Given the description of an element on the screen output the (x, y) to click on. 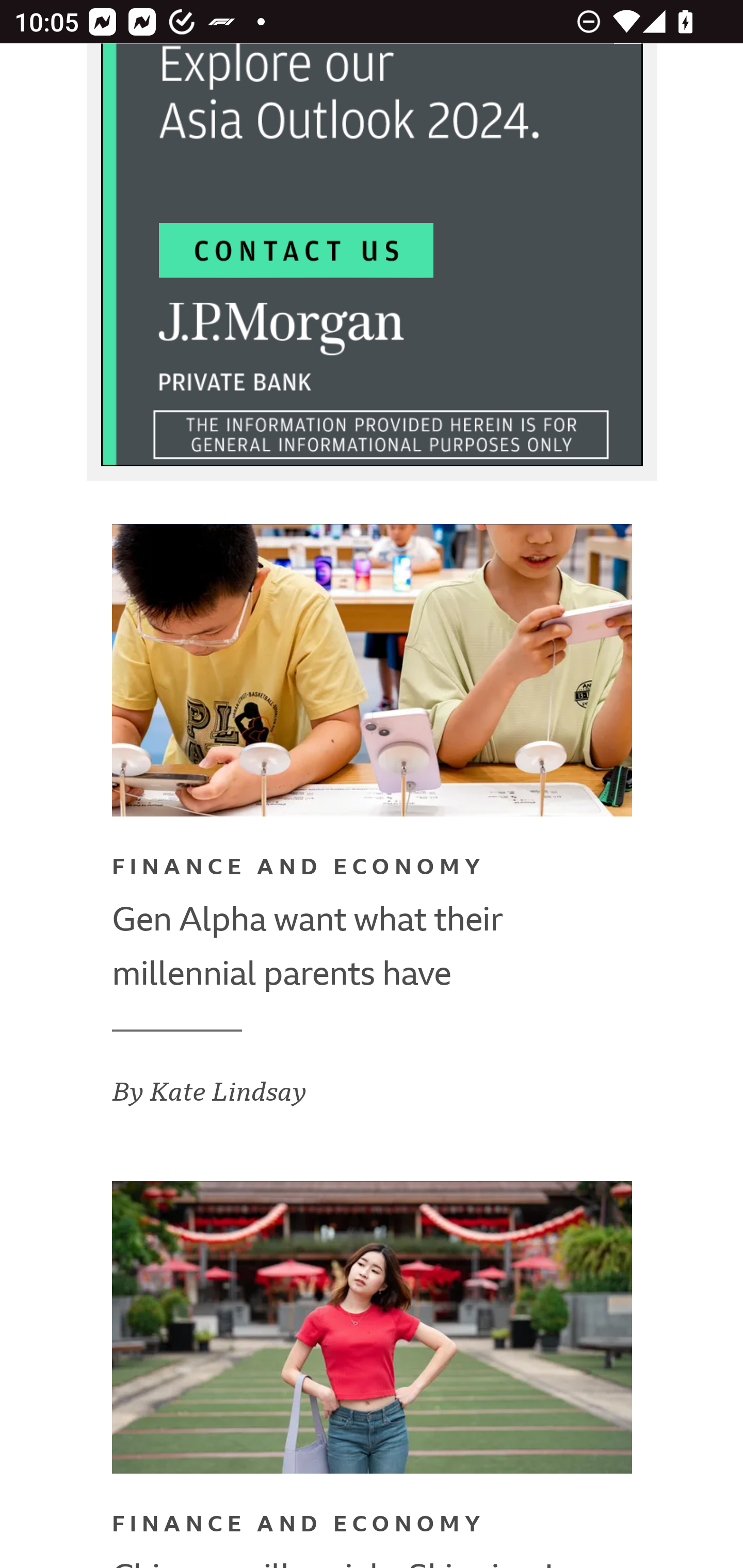
Tweens at Apple Store looking at iPhones (372, 672)
FINANCE AND ECONOMY (299, 870)
Gen Alpha want what their millennial parents have (372, 948)
FINANCE AND ECONOMY (299, 1528)
